Given the description of an element on the screen output the (x, y) to click on. 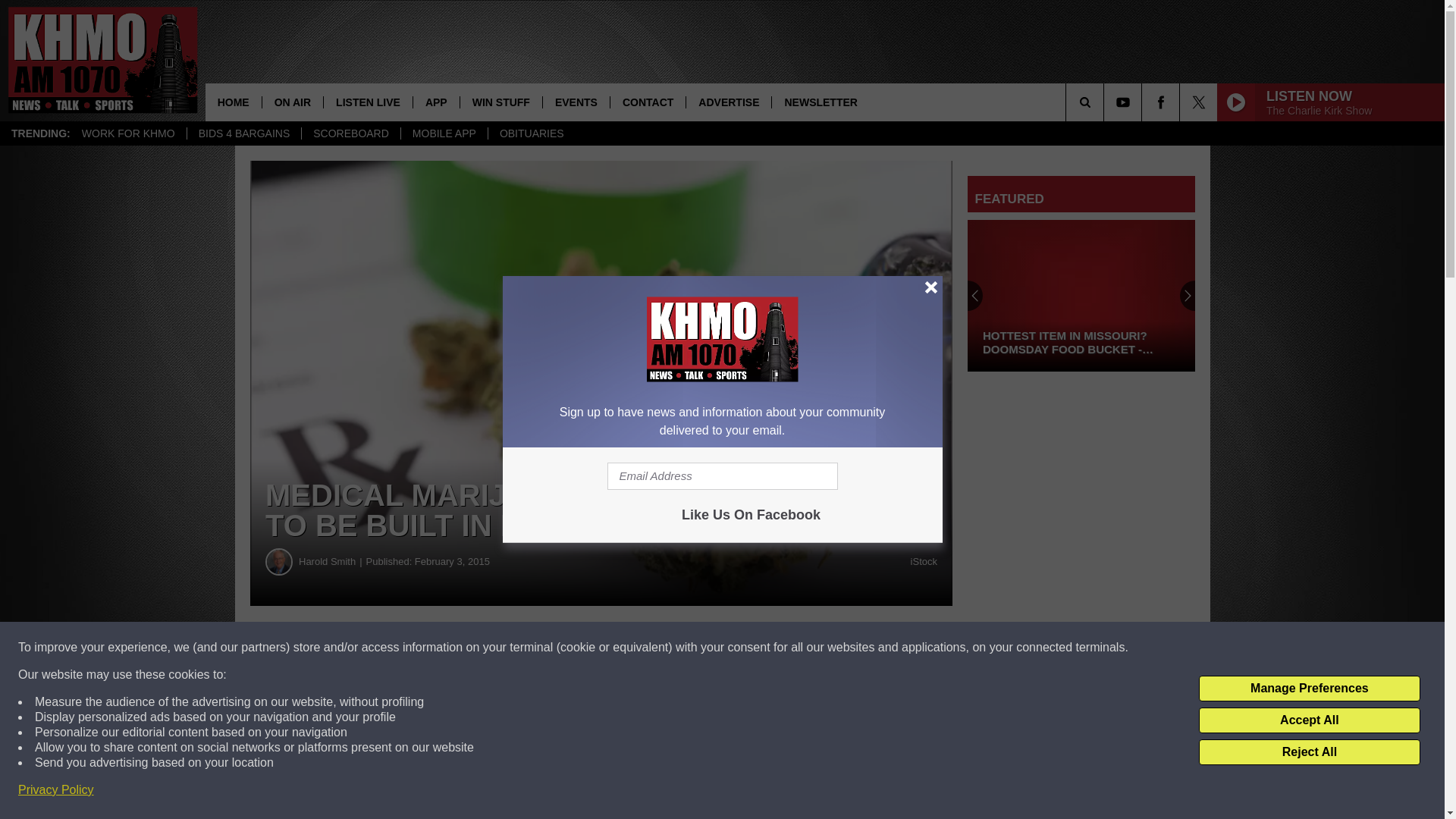
Privacy Policy (55, 789)
Accept All (1309, 720)
Share on Twitter (741, 647)
SCOREBOARD (350, 133)
OBITUARIES (531, 133)
CONTACT (647, 102)
EVENTS (575, 102)
LISTEN LIVE (367, 102)
APP (436, 102)
BIDS 4 BARGAINS (243, 133)
WORK FOR KHMO (127, 133)
Email Address (722, 475)
MOBILE APP (443, 133)
ON AIR (292, 102)
Share on Facebook (460, 647)
